Given the description of an element on the screen output the (x, y) to click on. 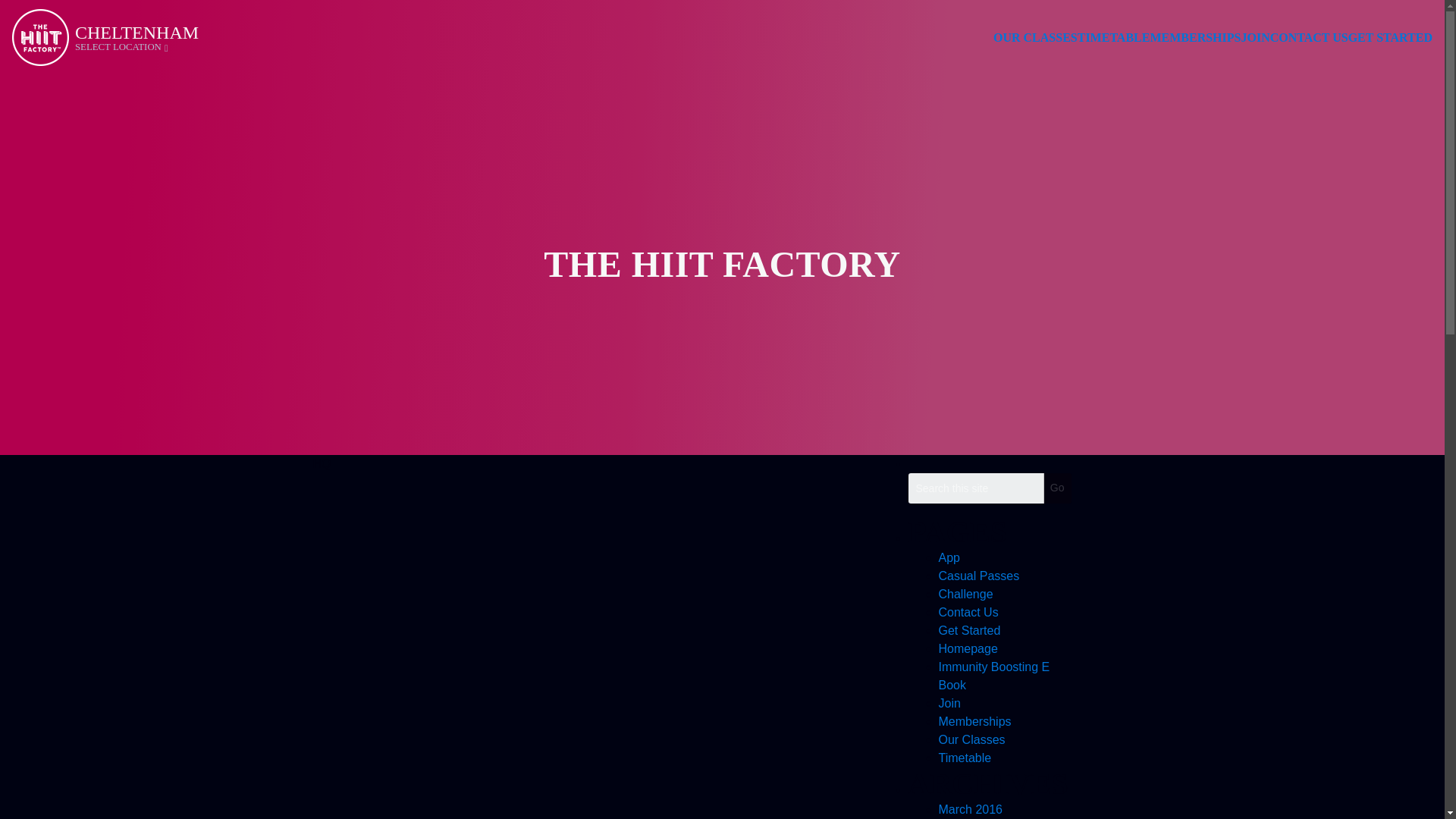
Get Started (970, 630)
CONTACT US (1308, 36)
TIMETABLE (1113, 36)
Go (1057, 488)
Join (949, 703)
JOIN (1254, 36)
App (949, 557)
Homepage (968, 648)
Challenge (965, 594)
MEMBERSHIPS (1195, 36)
Go (1057, 488)
Search this site (975, 488)
Contact Us (968, 612)
GET STARTED (1390, 36)
Immunity Boosting E Book (994, 675)
